Given the description of an element on the screen output the (x, y) to click on. 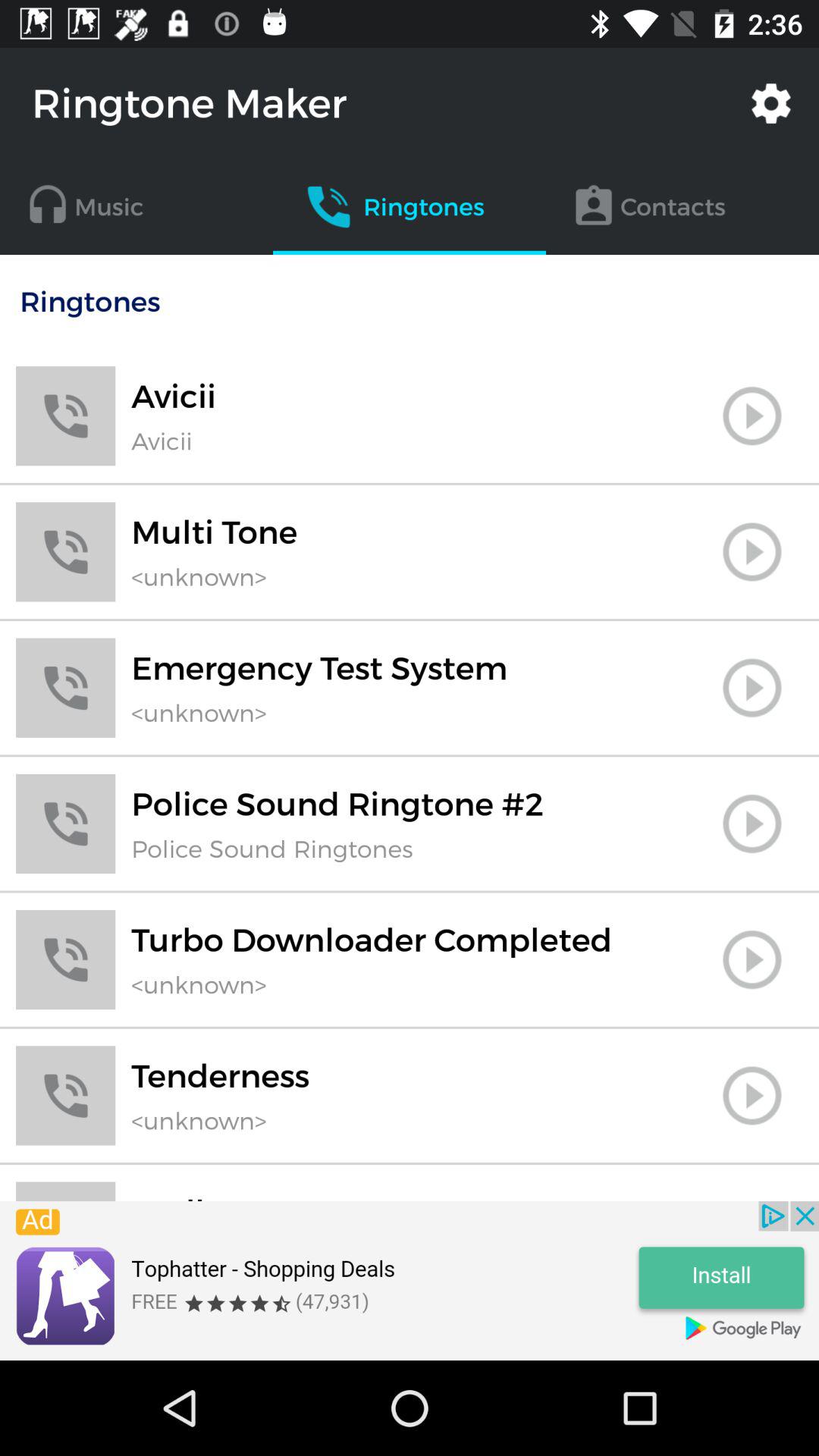
play page (752, 551)
